Given the description of an element on the screen output the (x, y) to click on. 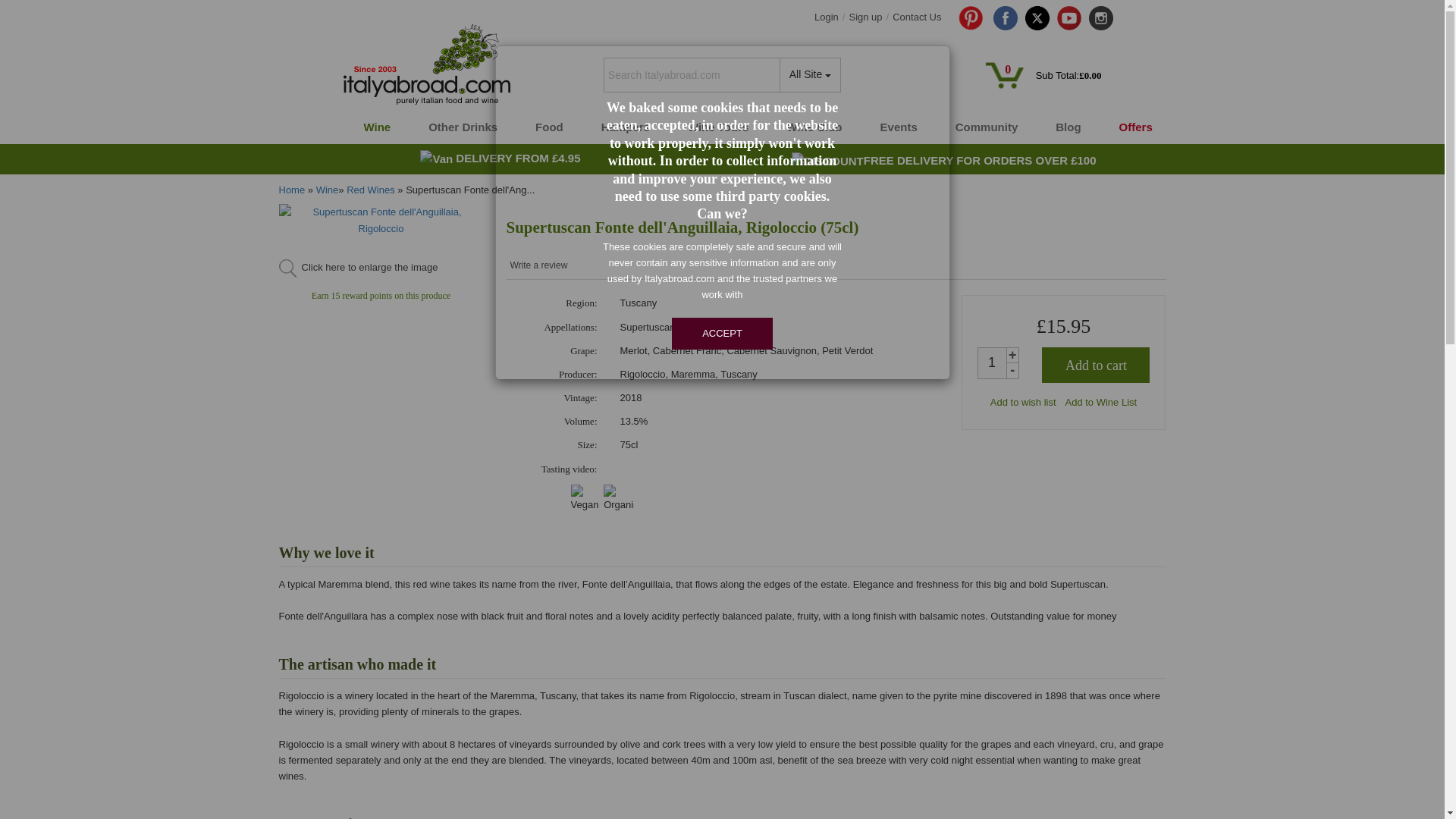
Wine (374, 127)
Cart (1004, 75)
Italian wine and food (425, 65)
Wine (374, 127)
Sign up (865, 16)
Add to cart (1096, 365)
Contact Us (916, 16)
facebook (1004, 17)
Contact Us (916, 16)
Food (547, 127)
